Given the description of an element on the screen output the (x, y) to click on. 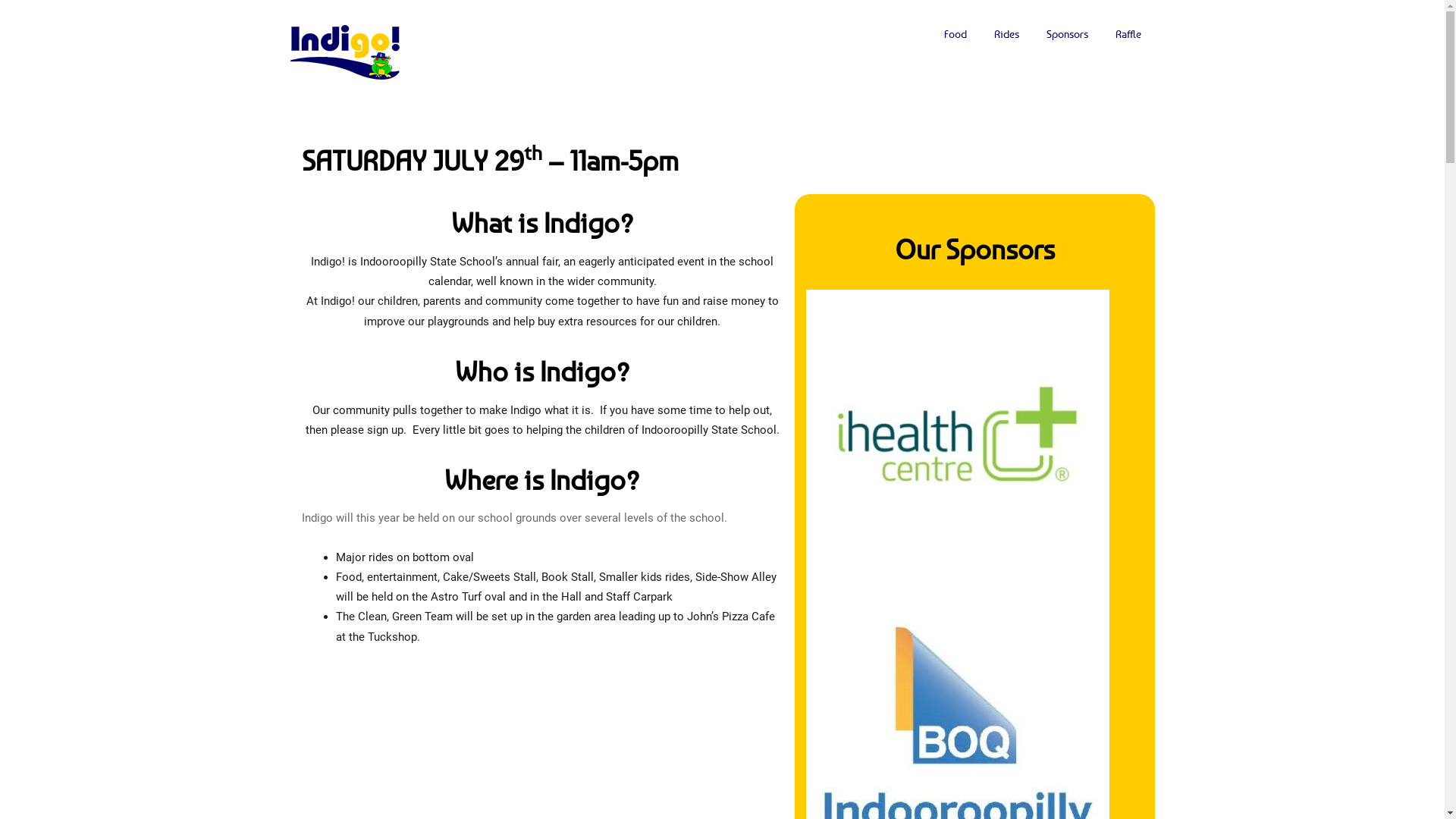
Sponsors Element type: text (1066, 34)
ihealthcentre indooroopilly Element type: hover (956, 441)
Raffle Element type: text (1127, 34)
Food Element type: text (954, 34)
Rides Element type: text (1005, 34)
